Given the description of an element on the screen output the (x, y) to click on. 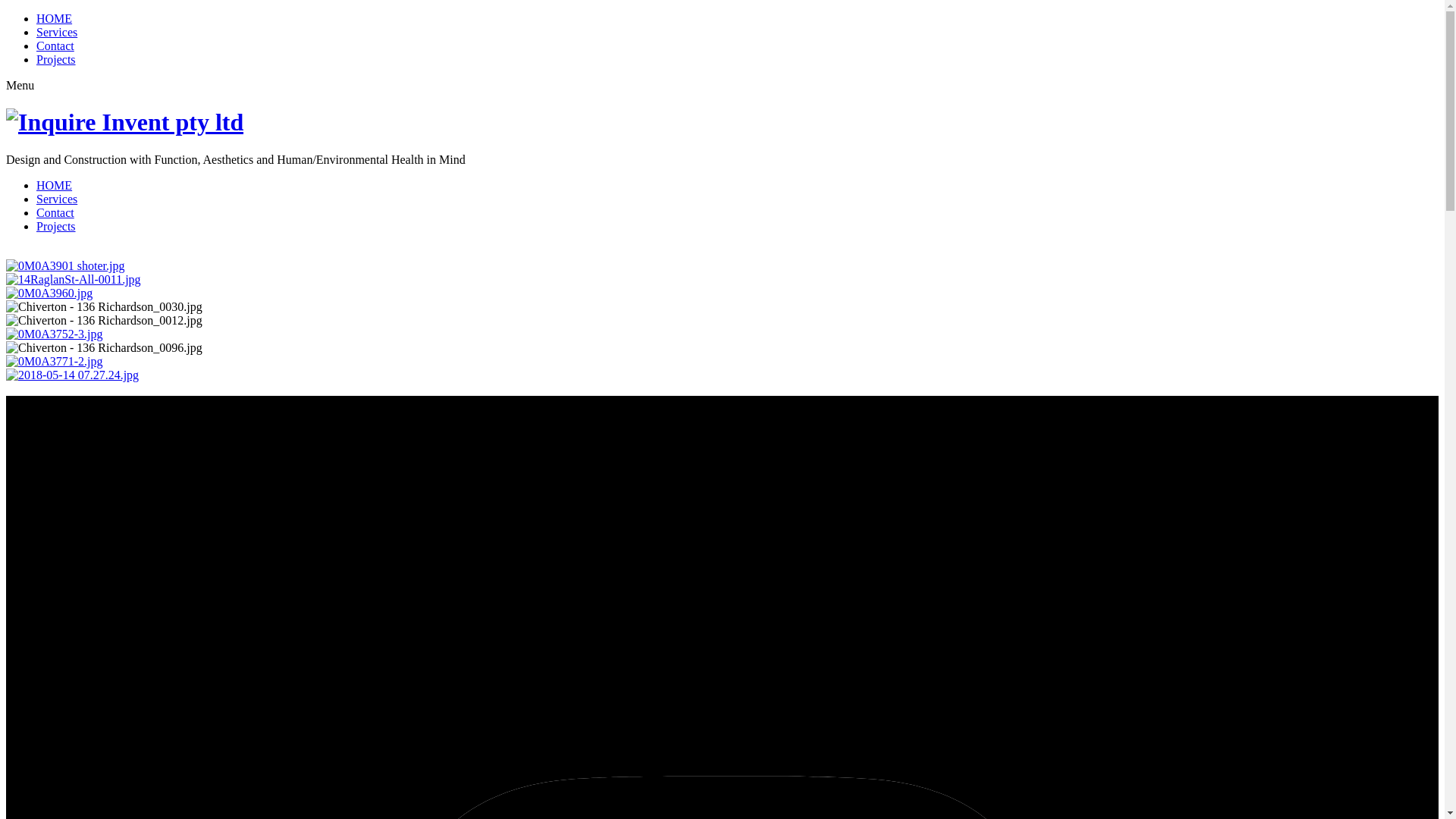
Menu Element type: text (20, 84)
HOME Element type: text (54, 184)
Contact Element type: text (55, 212)
Services Element type: text (56, 31)
Projects Element type: text (55, 225)
Projects Element type: text (55, 59)
HOME Element type: text (54, 18)
Contact Element type: text (55, 45)
Services Element type: text (56, 198)
